Given the description of an element on the screen output the (x, y) to click on. 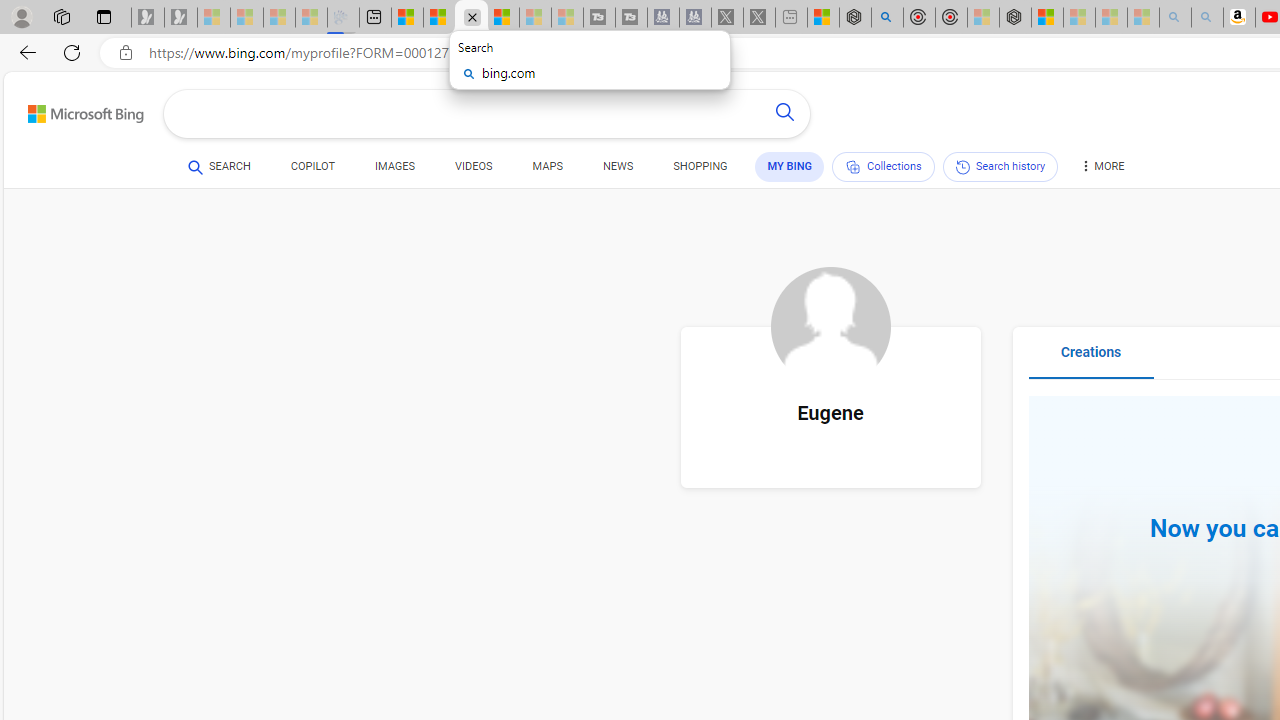
Search history (1000, 166)
MY BING (789, 166)
VIDEOS (473, 166)
MAPS (546, 166)
NEWS (618, 166)
poe - Search (886, 17)
Microsoft Start - Sleeping (535, 17)
Amazon Echo Dot PNG - Search Images - Sleeping (1206, 17)
Back to Bing search (73, 110)
